Given the description of an element on the screen output the (x, y) to click on. 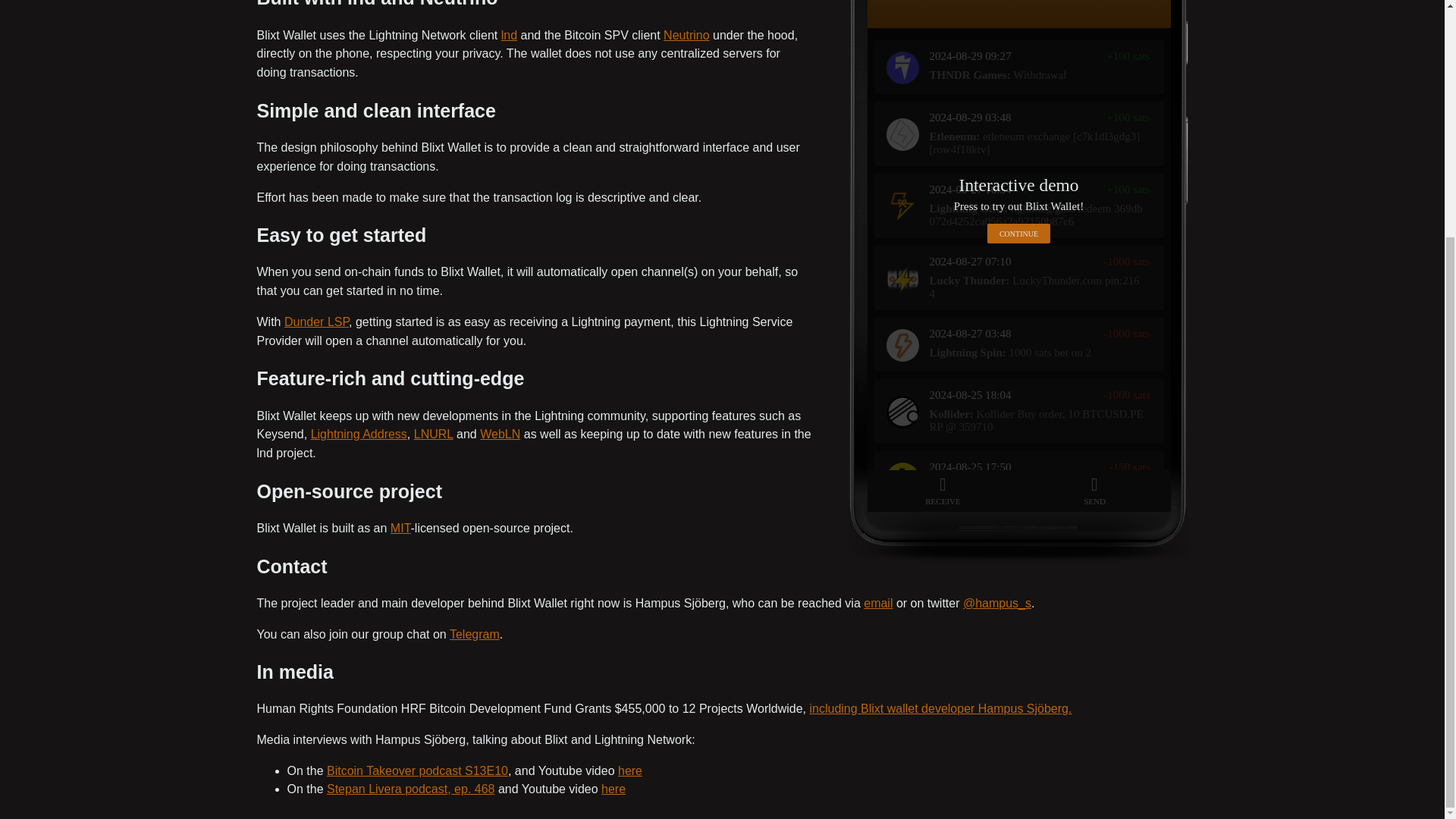
here (613, 788)
Dunder LSP (316, 321)
here (629, 770)
Telegram (474, 634)
Bitcoin Takeover podcast S13E10 (417, 770)
MIT (400, 527)
LNURL (432, 433)
email (877, 603)
Lightning Address (359, 433)
lnd (508, 34)
